Given the description of an element on the screen output the (x, y) to click on. 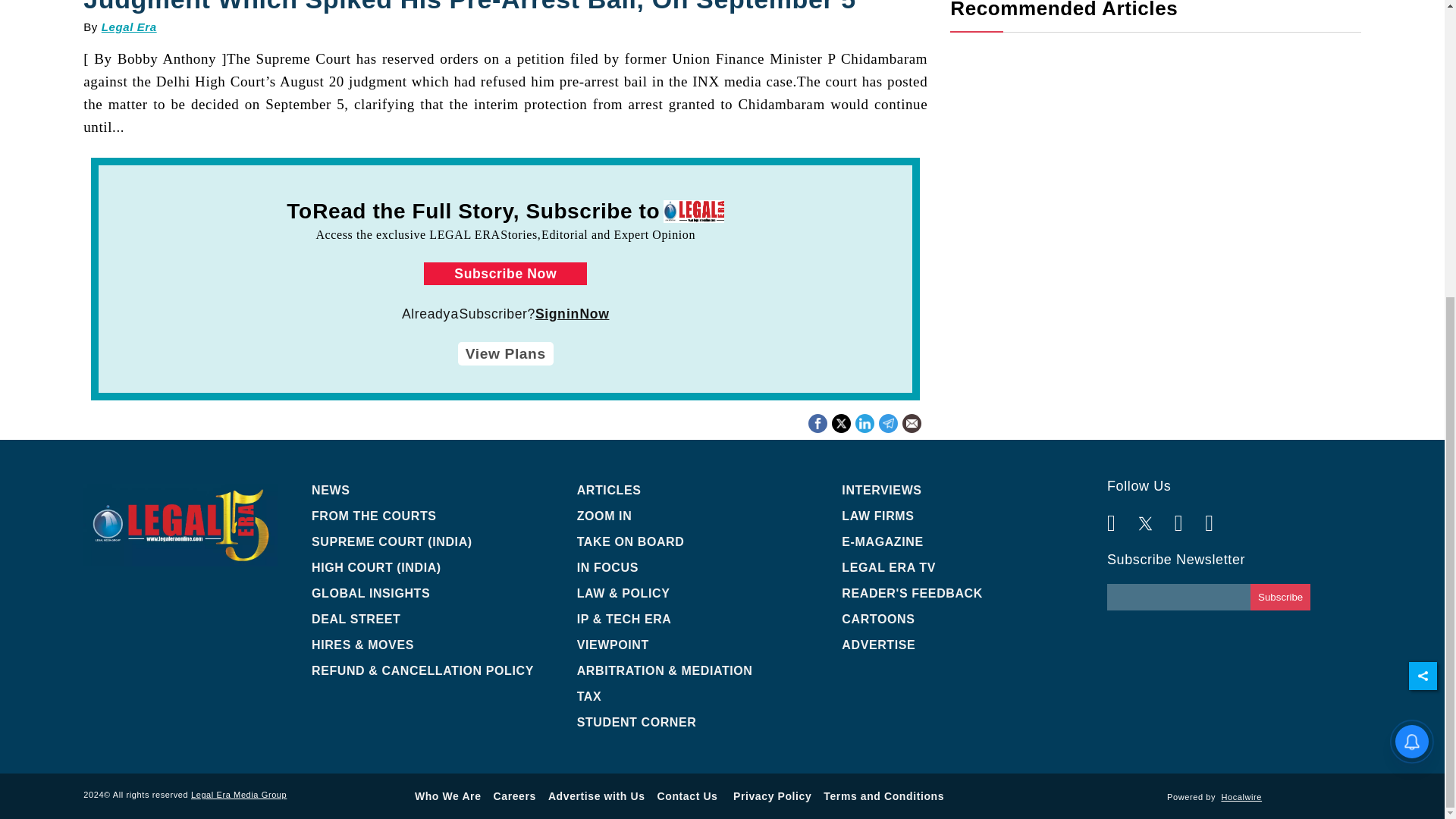
twitter (1155, 20)
linkedin (841, 423)
facebook (864, 423)
Subscribe (818, 423)
Facebook (1280, 596)
Twitter (817, 421)
LinkedIn (840, 421)
